Given the description of an element on the screen output the (x, y) to click on. 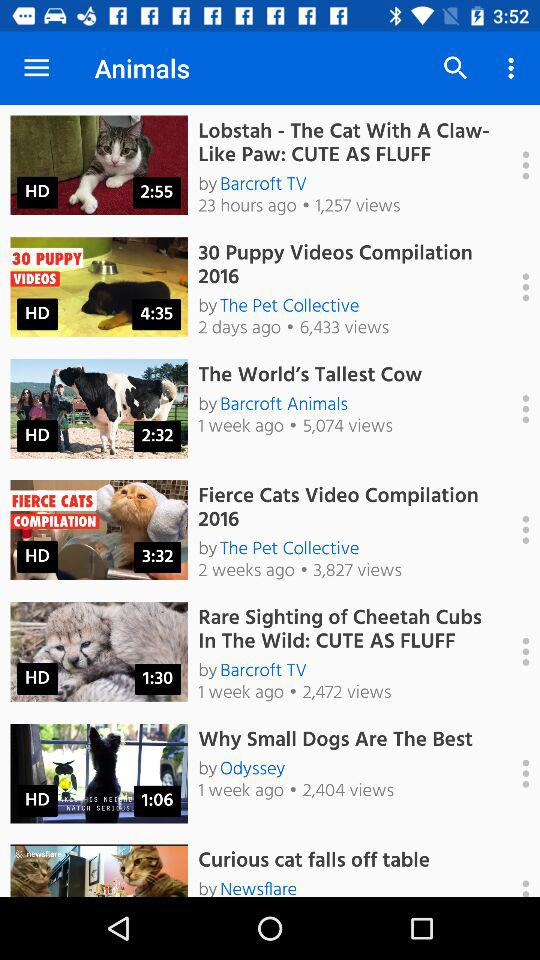
check video settings info (515, 287)
